Given the description of an element on the screen output the (x, y) to click on. 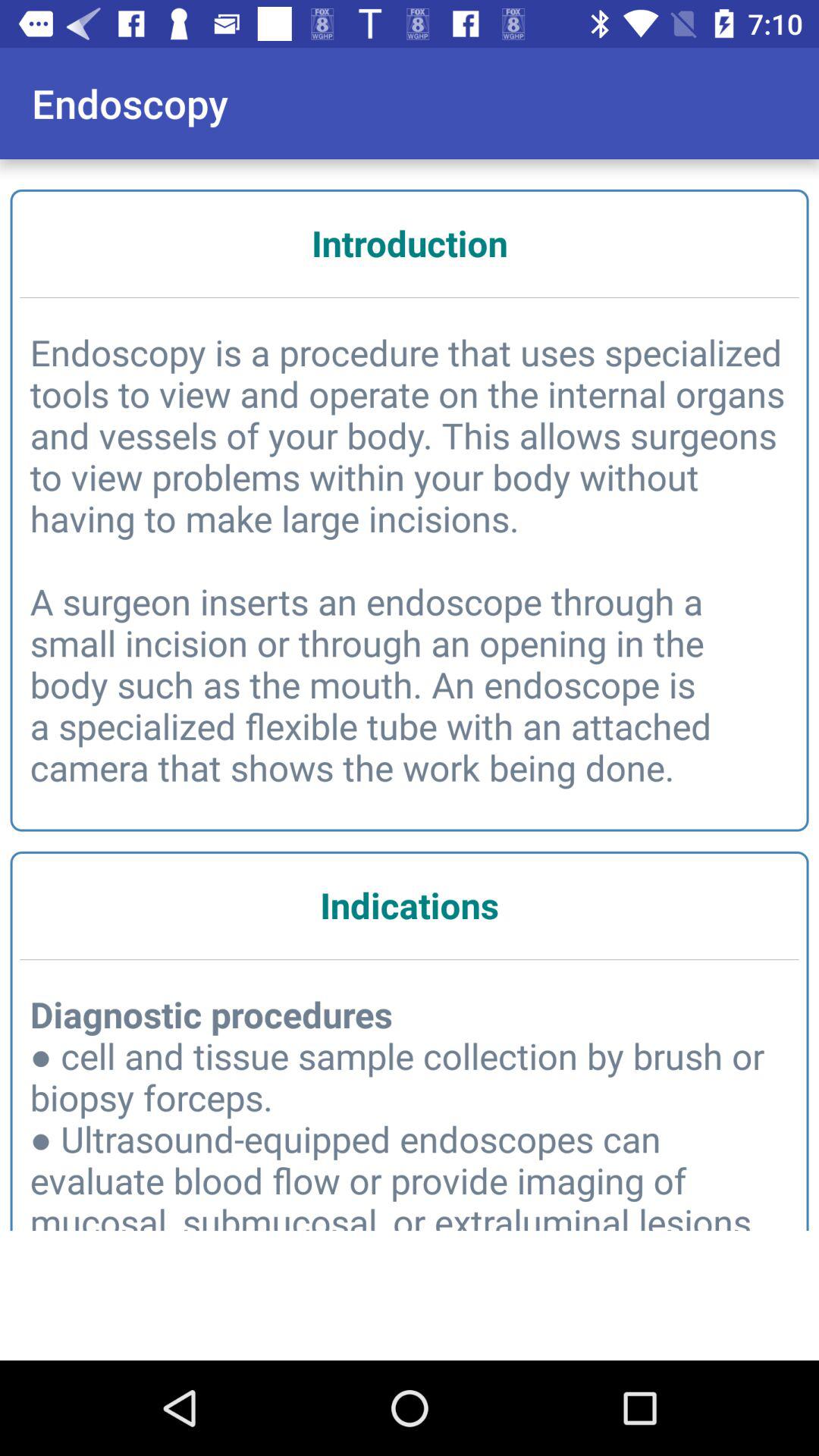
jump until endoscopy is a icon (409, 559)
